Given the description of an element on the screen output the (x, y) to click on. 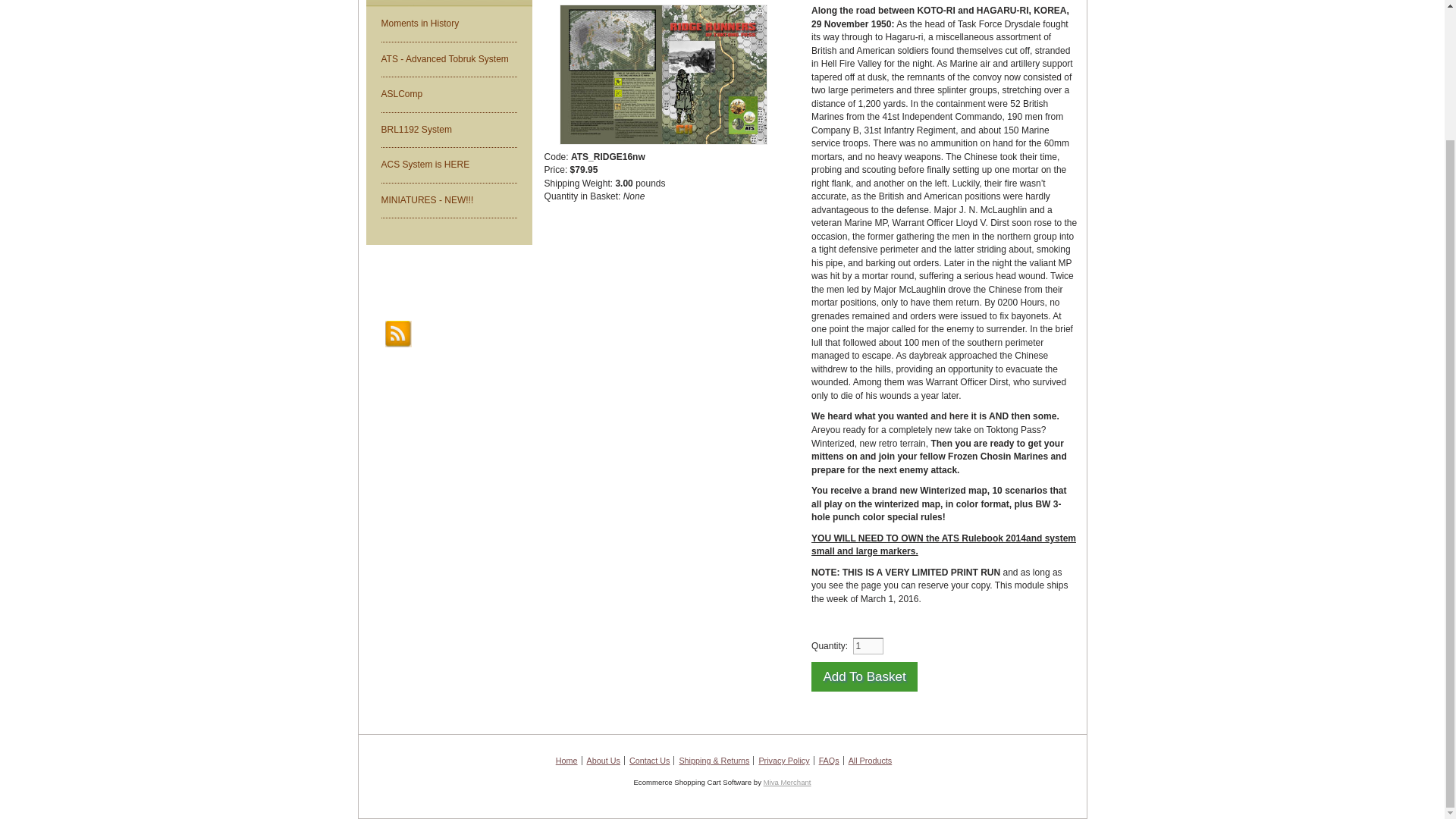
Moments in History (448, 24)
Privacy Policy (783, 759)
ATS - Advanced Tobruk System (448, 59)
BRL1192 System (448, 130)
Blog (398, 334)
Add To Basket (863, 676)
MINIATURES - NEW!!! (448, 200)
ACS System is HERE (448, 165)
All Products (870, 759)
FAQs (829, 759)
